Given the description of an element on the screen output the (x, y) to click on. 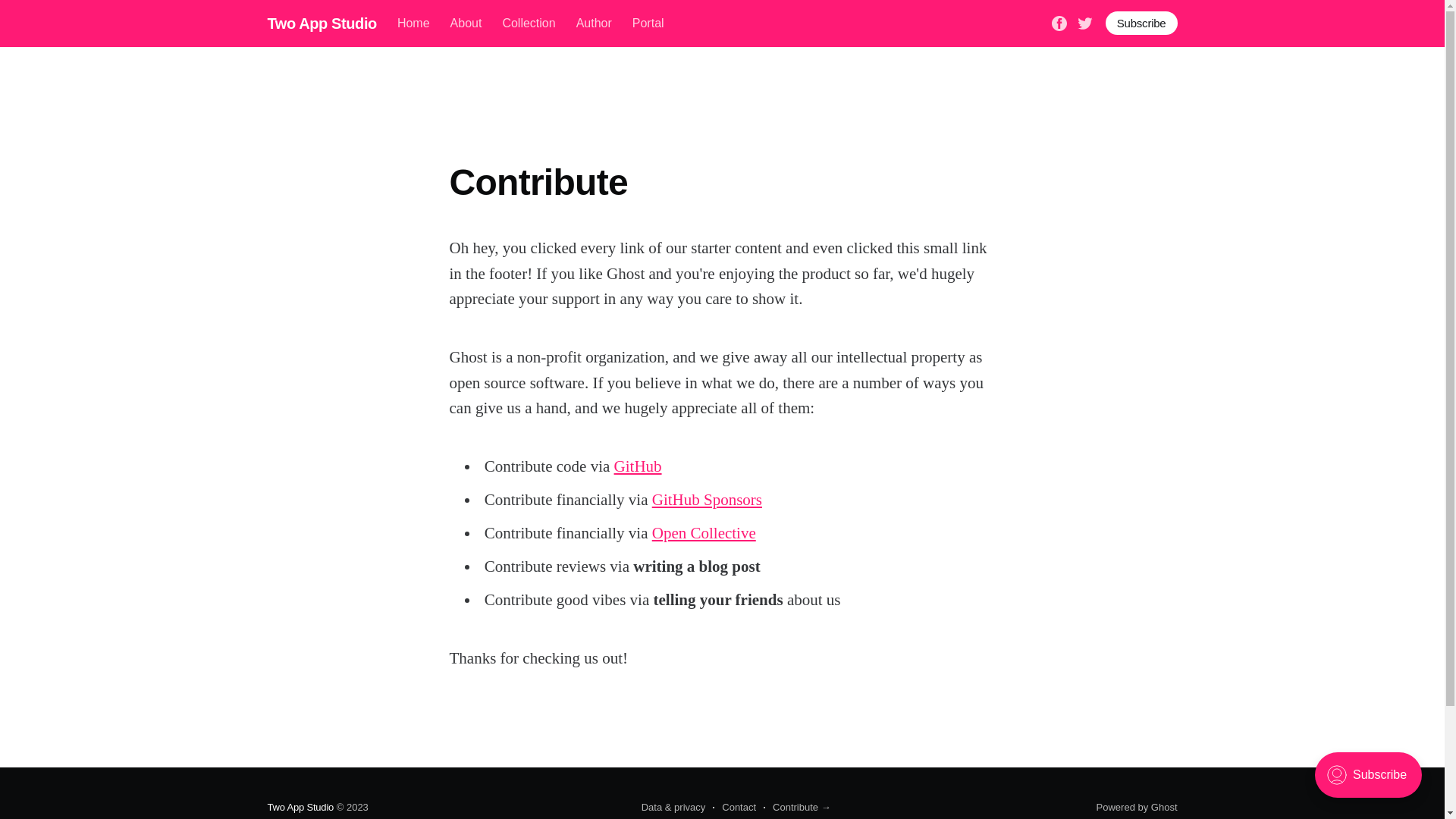
Two App Studio Element type: text (299, 806)
Home Element type: text (413, 23)
GitHub Sponsors Element type: text (707, 499)
Subscribe Element type: text (1141, 22)
GitHub Element type: text (638, 466)
Twitter Element type: hover (1084, 21)
Author Element type: text (593, 23)
About Element type: text (466, 23)
Data & privacy Element type: text (673, 807)
Open Collective Element type: text (704, 533)
Powered by Ghost Element type: text (1136, 806)
Facebook Element type: hover (1058, 21)
Portal Element type: text (648, 23)
Contact Element type: text (734, 807)
Collection Element type: text (528, 23)
Two App Studio Element type: text (321, 23)
